Given the description of an element on the screen output the (x, y) to click on. 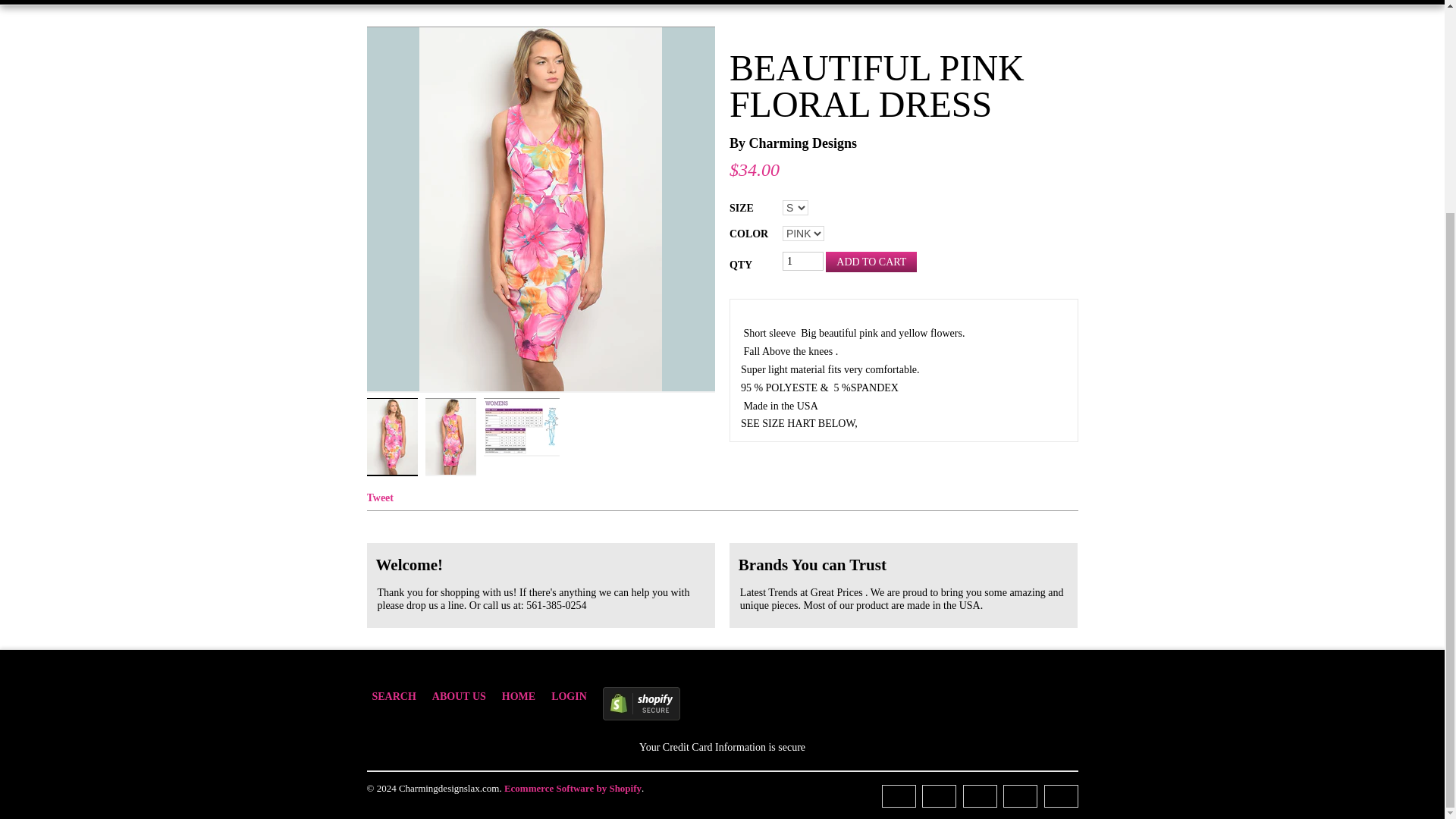
Tweet (380, 497)
LOGIN (576, 697)
ABOUT US (467, 697)
1 (803, 261)
This online store is secured by Shopify (724, 703)
Ecommerce Software by Shopify (572, 787)
Add To Cart (871, 261)
SEARCH (400, 697)
HOME (526, 697)
Add To Cart (871, 261)
